Given the description of an element on the screen output the (x, y) to click on. 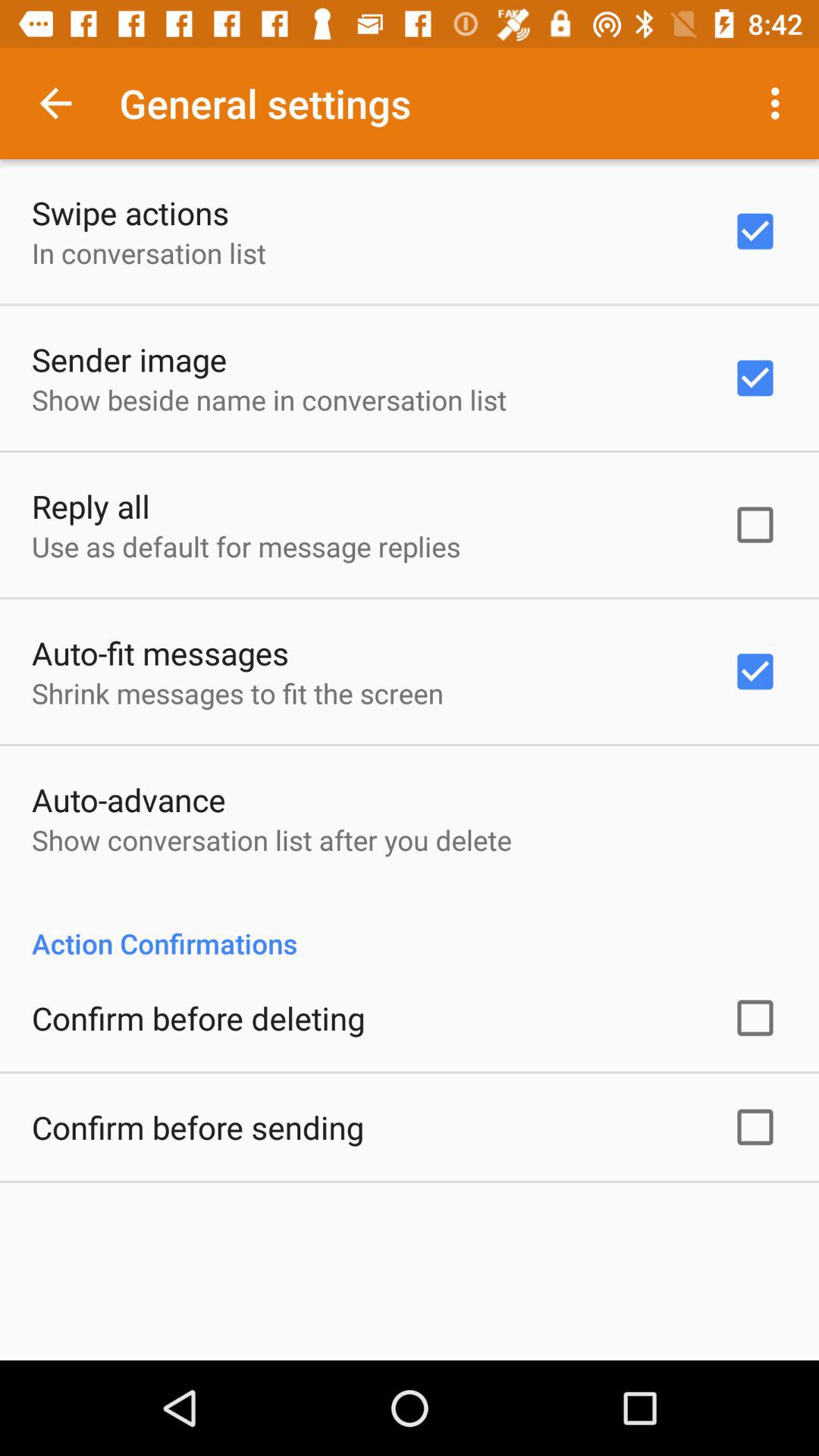
flip until the reply all icon (90, 505)
